Given the description of an element on the screen output the (x, y) to click on. 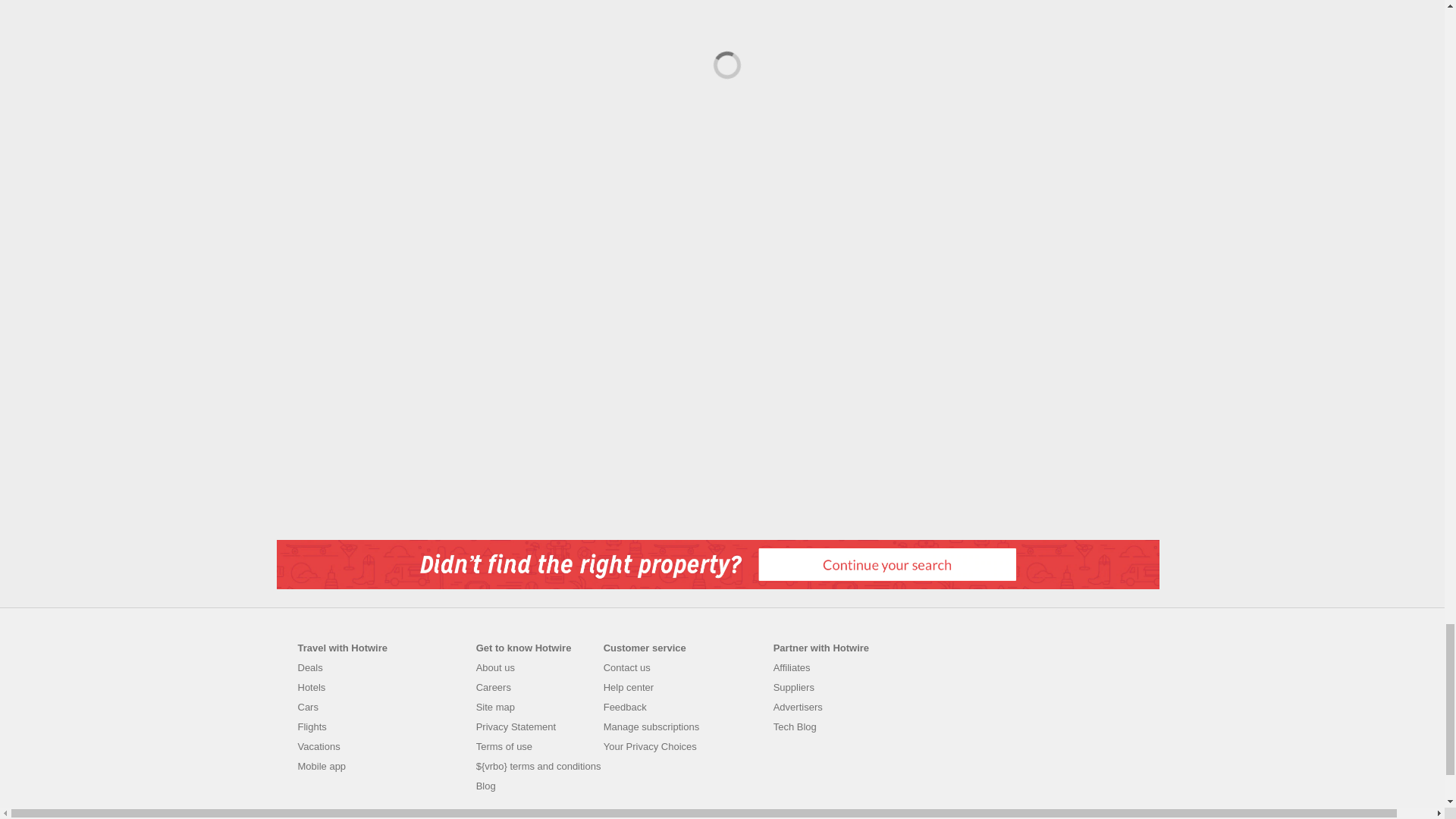
Loading... (724, 62)
